Given the description of an element on the screen output the (x, y) to click on. 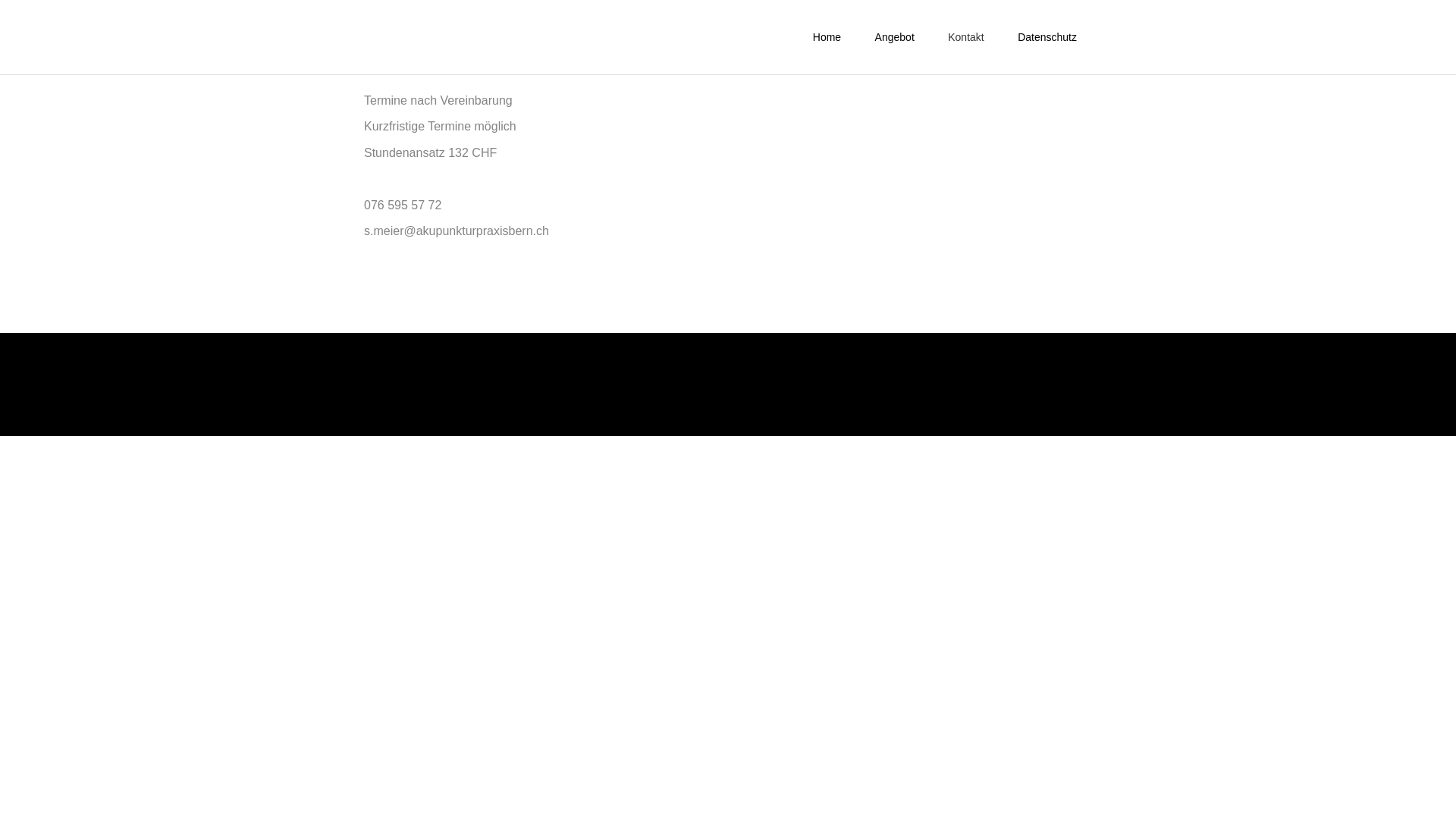
Datenschutz Element type: text (1047, 36)
Home Element type: text (826, 36)
Kontakt Element type: text (965, 36)
Angebot Element type: text (894, 36)
